Given the description of an element on the screen output the (x, y) to click on. 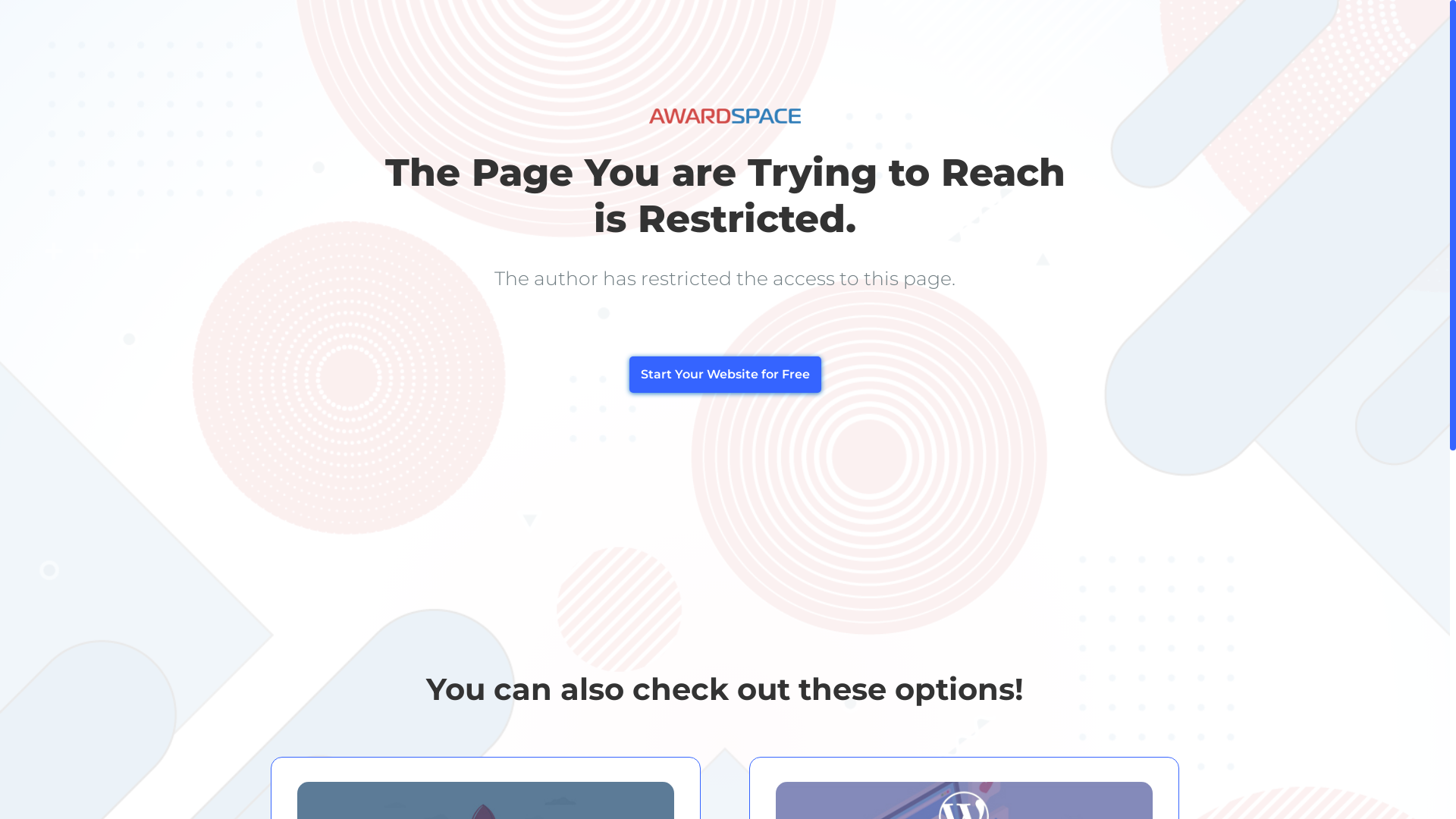
Start Your Website for Free Element type: text (725, 374)
